Given the description of an element on the screen output the (x, y) to click on. 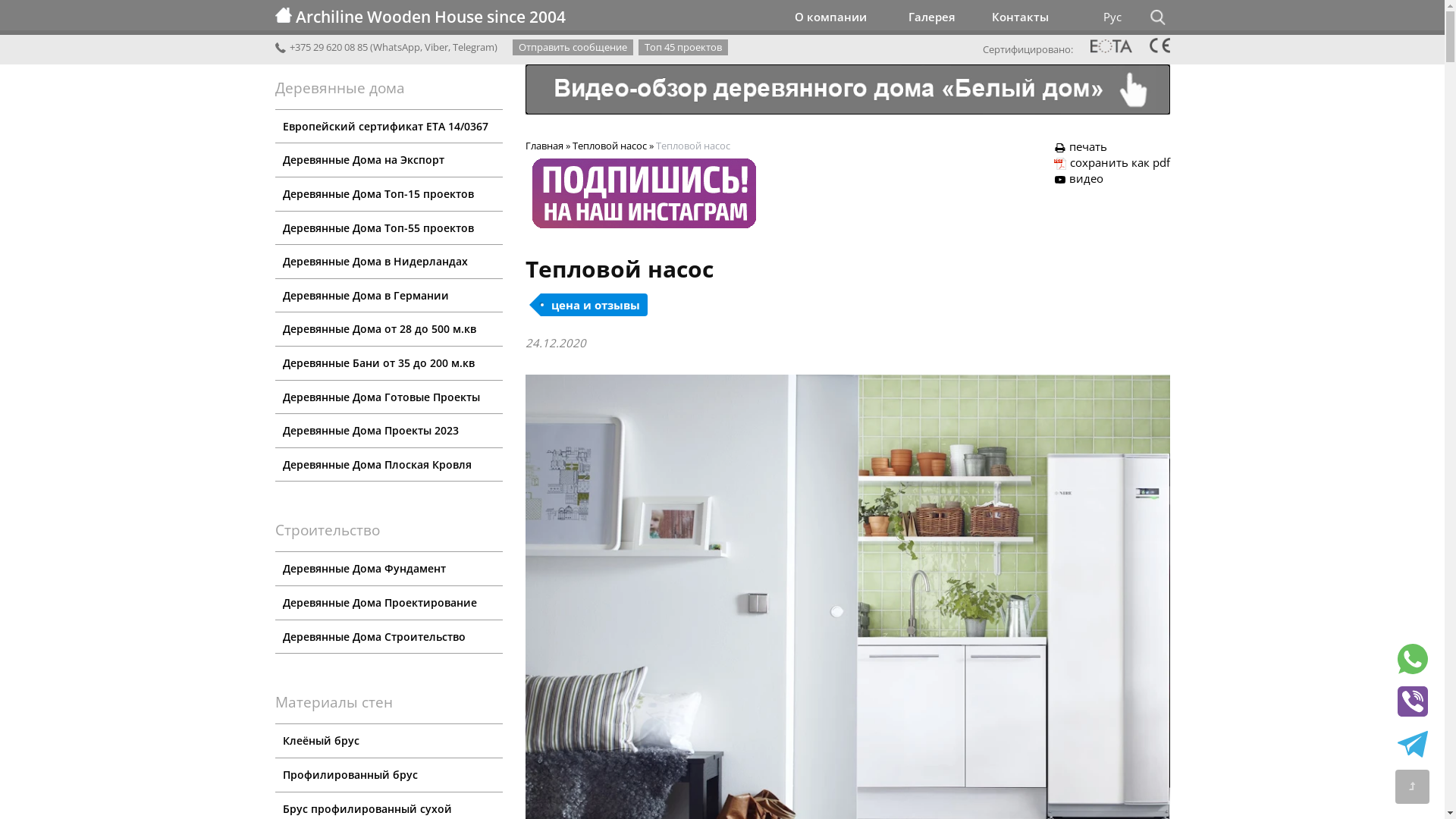
+375 29 620 08 85 Element type: text (320, 46)
Archiline Wooden House since 2004 Element type: text (521, 17)
WhatsApp Element type: text (396, 46)
Telegram Element type: text (472, 46)
Viber Element type: text (436, 46)
